Given the description of an element on the screen output the (x, y) to click on. 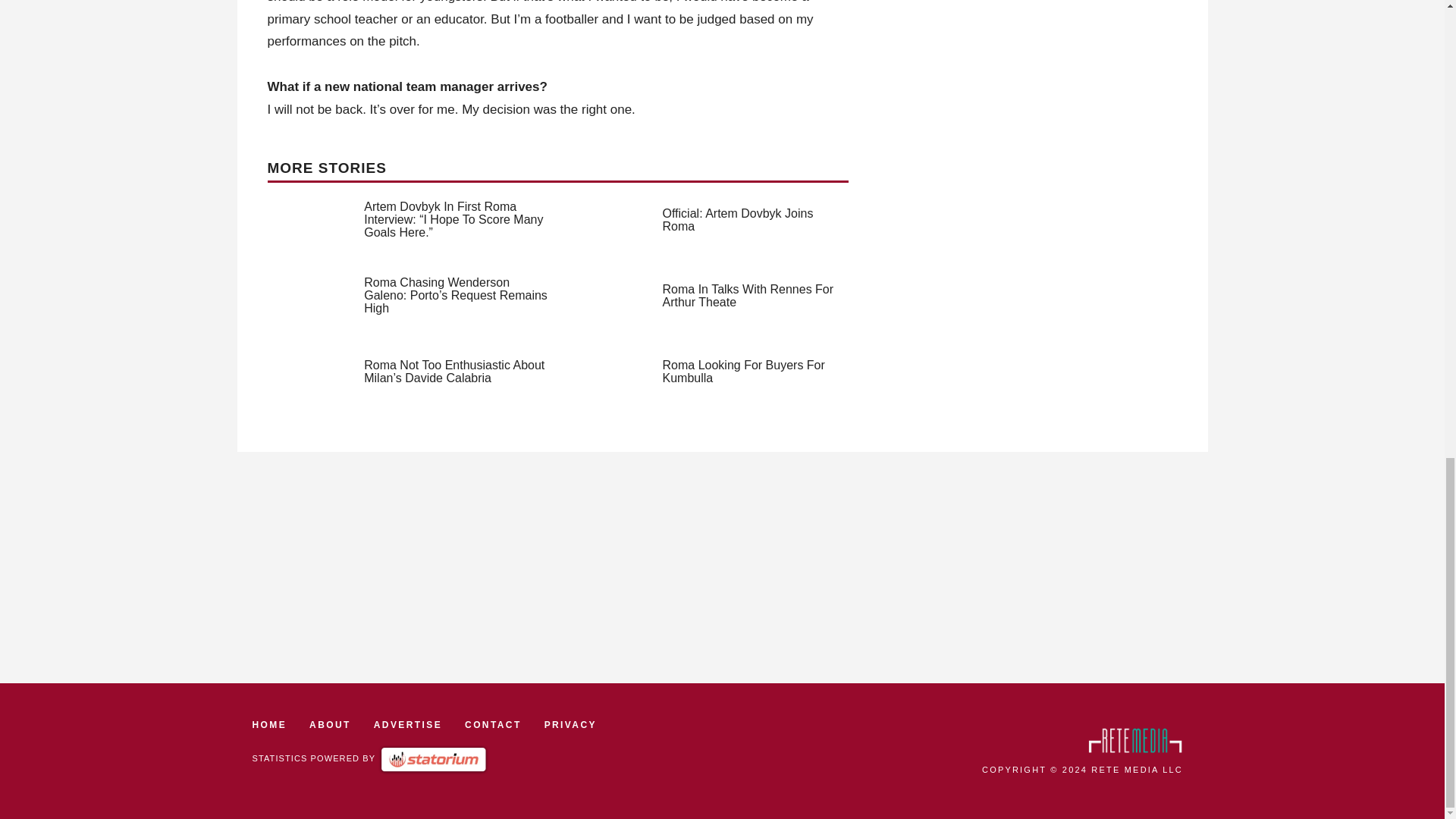
PRIVACY (570, 725)
Roma In Talks With Rennes For Arthur Theate (748, 295)
ADVERTISE (408, 725)
Official: Artem Dovbyk Joins Roma (737, 219)
CONTACT (492, 725)
Roma Looking For Buyers For Kumbulla (743, 371)
ABOUT (329, 725)
HOME (268, 725)
